Given the description of an element on the screen output the (x, y) to click on. 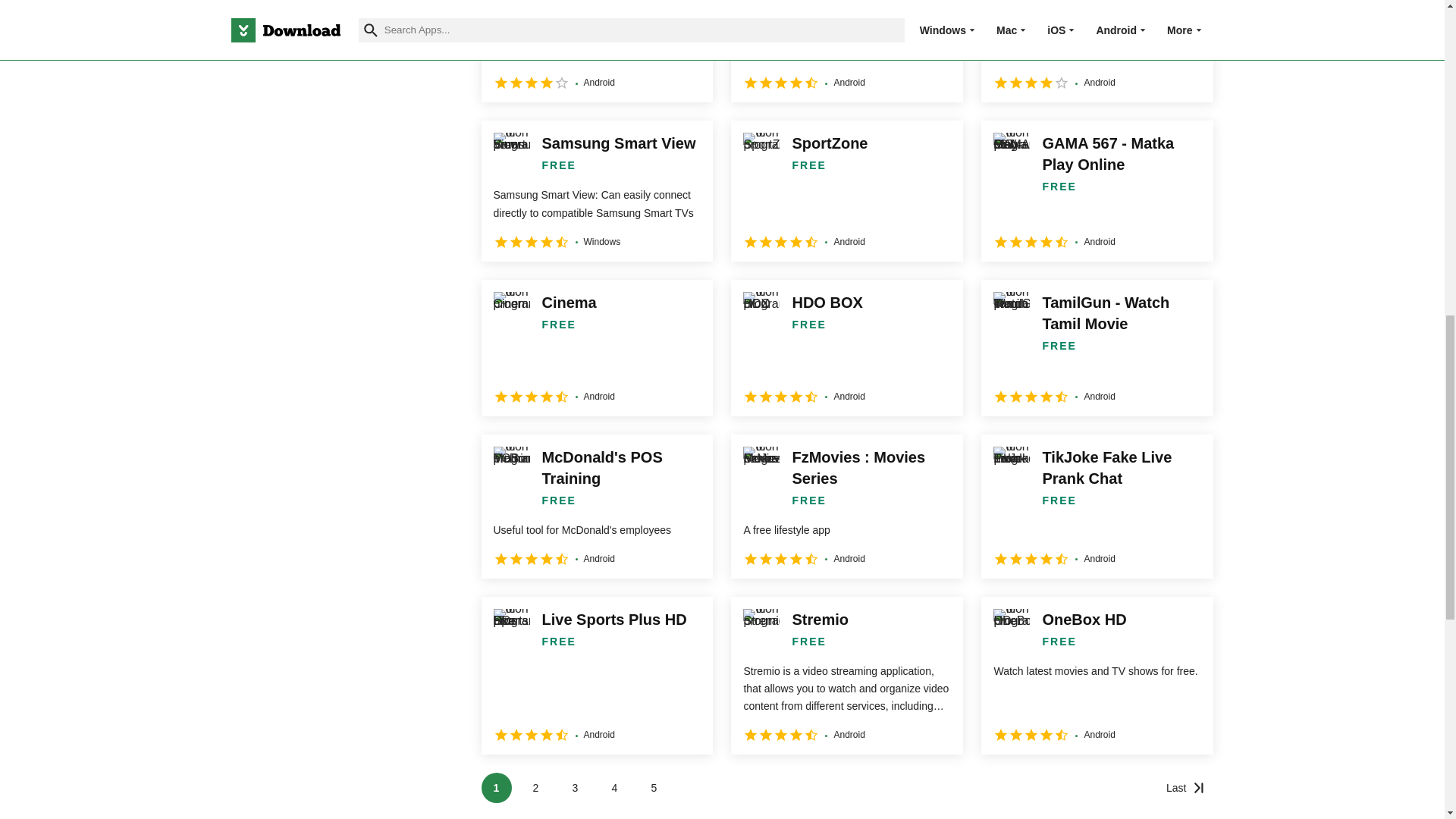
Dev IPTV Player Pro (1096, 51)
SportZone (846, 190)
Samsung Smart View (596, 190)
TamilGun - Watch Tamil Movie (1096, 348)
crash Predictor aviator (846, 51)
FzMovies : Movies  Series (846, 506)
Cinema (596, 348)
McDonald's POS Training (596, 506)
DazcFutbolTv (596, 51)
GAMA 567 - Matka Play Online (1096, 190)
